Given the description of an element on the screen output the (x, y) to click on. 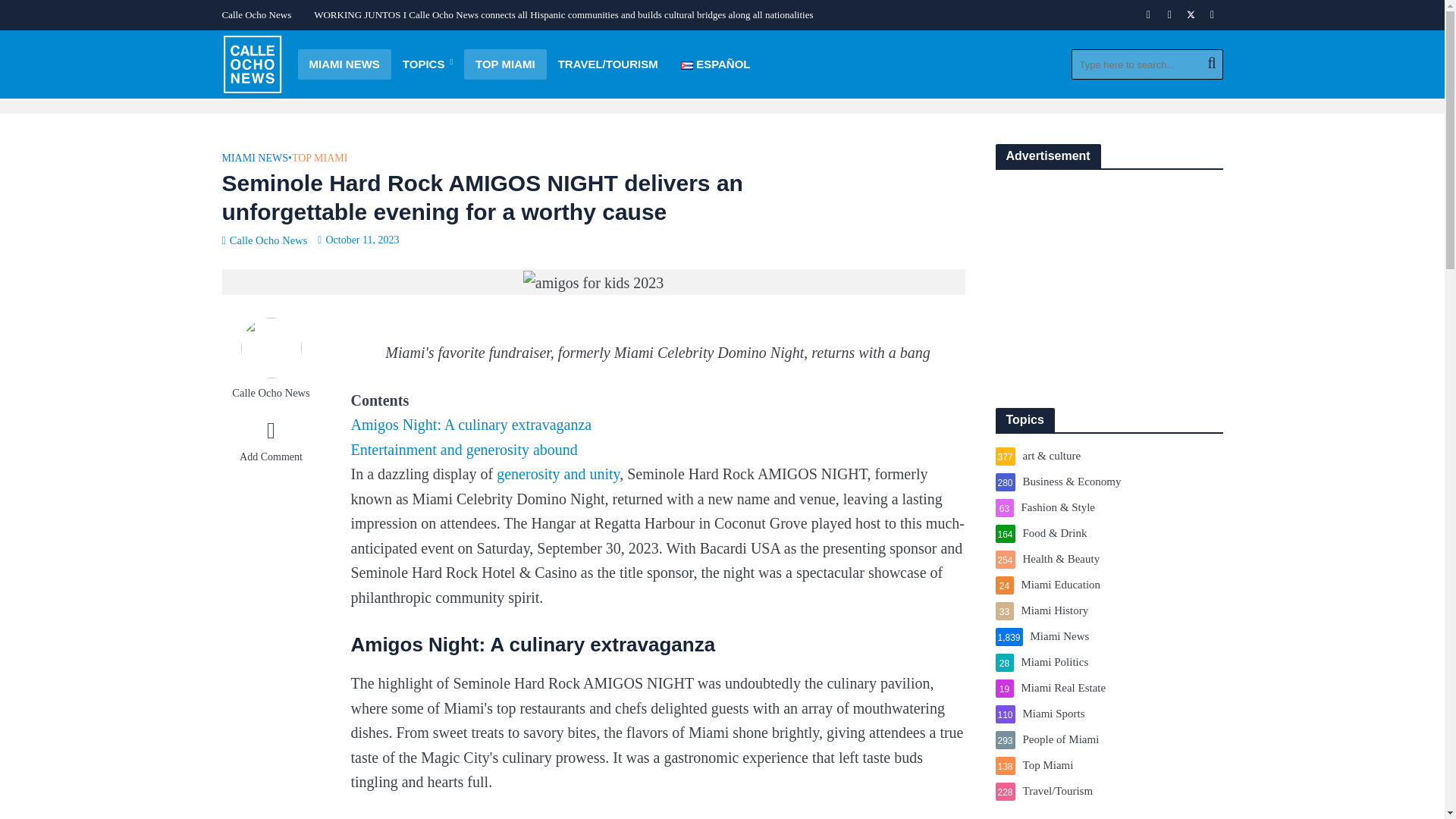
Twitter (1190, 14)
Calle Ocho News (259, 15)
Facebook (1147, 14)
MIAMI NEWS (343, 64)
Youtube (1212, 14)
TOPICS (427, 64)
TOP MIAMI (505, 64)
Instagram (1168, 14)
